Given the description of an element on the screen output the (x, y) to click on. 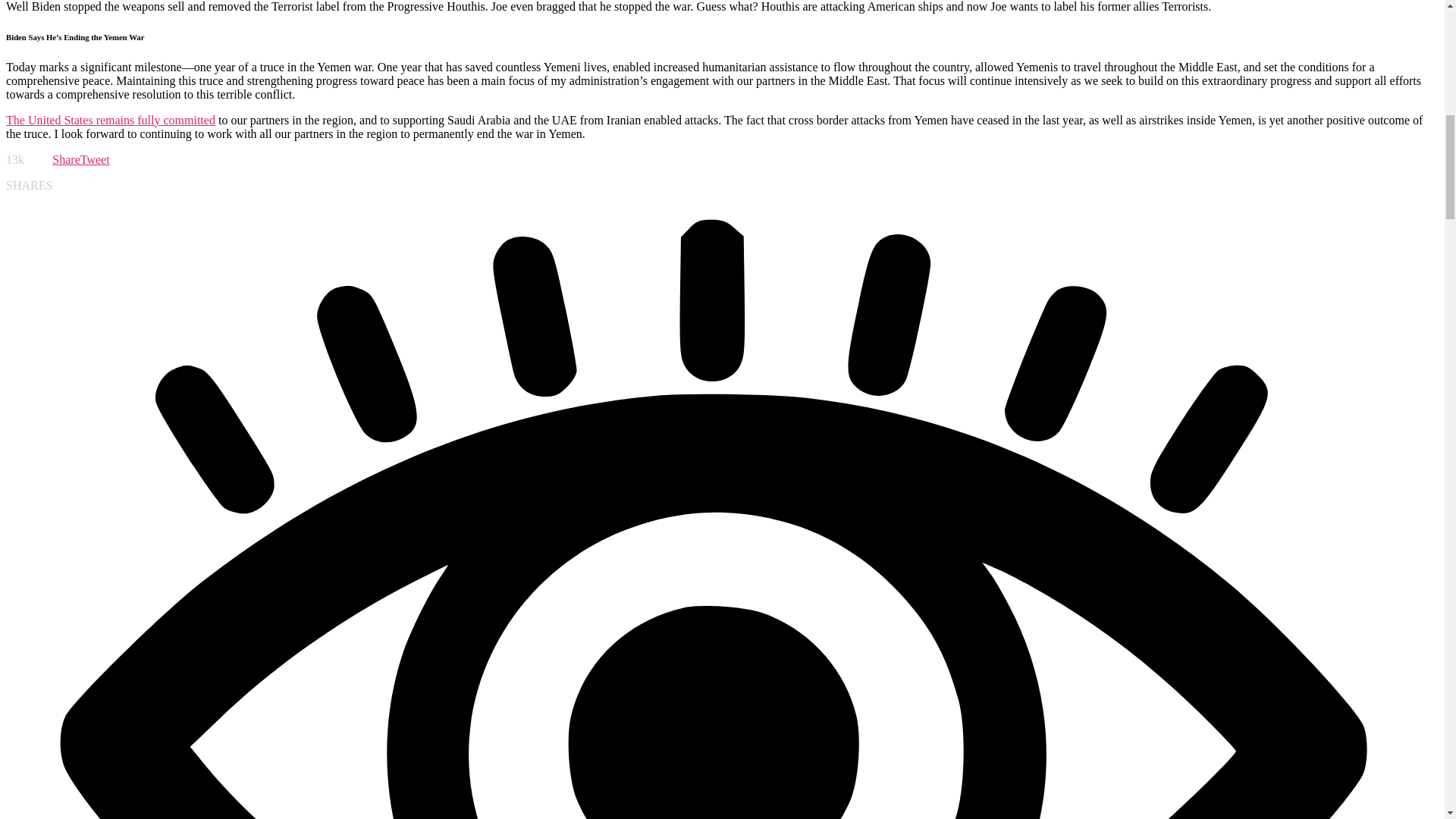
Tweet (95, 159)
The United States remains fully committed (110, 119)
Share (66, 159)
